Given the description of an element on the screen output the (x, y) to click on. 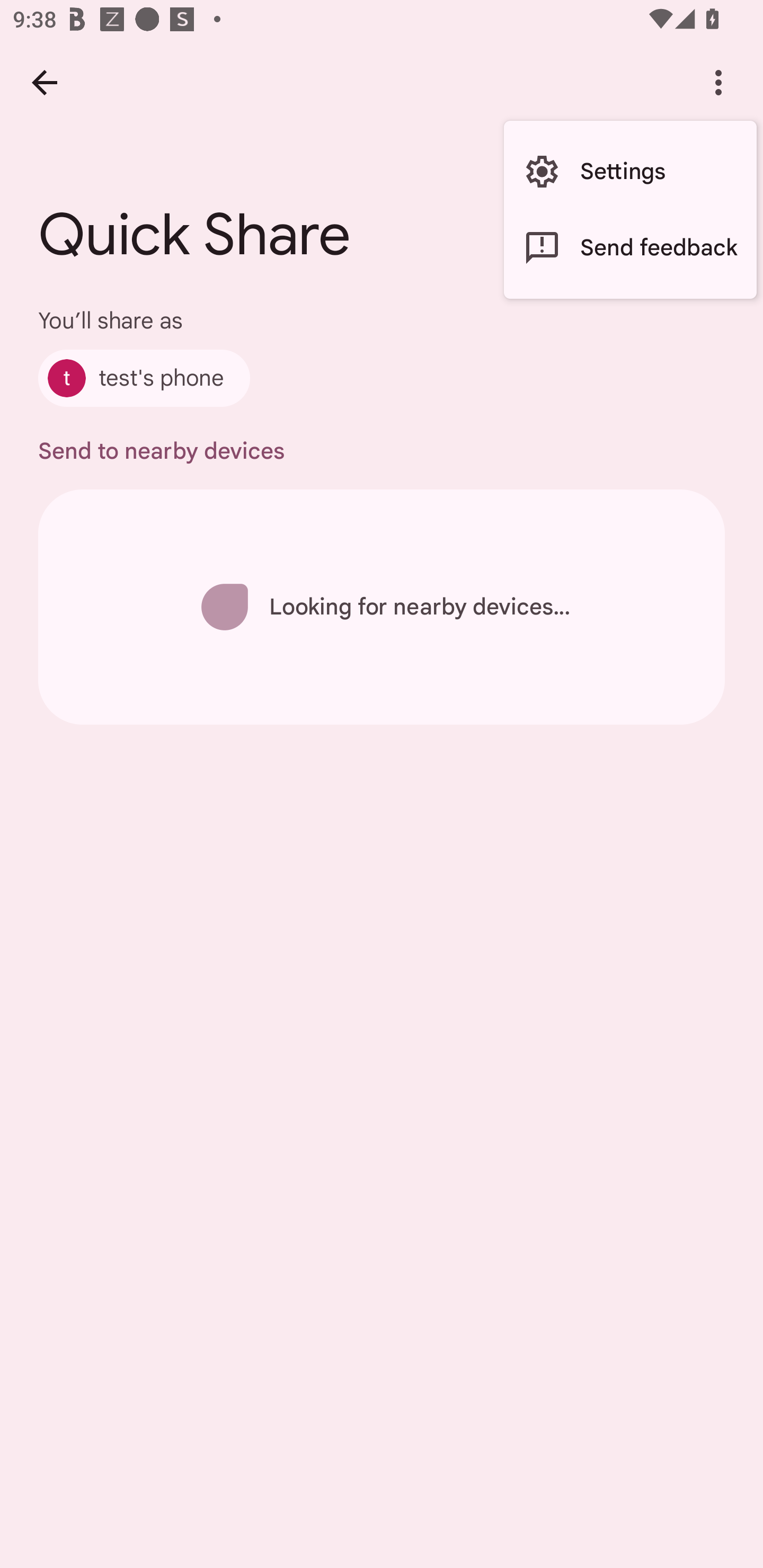
Settings (629, 171)
Send feedback (629, 247)
